Given the description of an element on the screen output the (x, y) to click on. 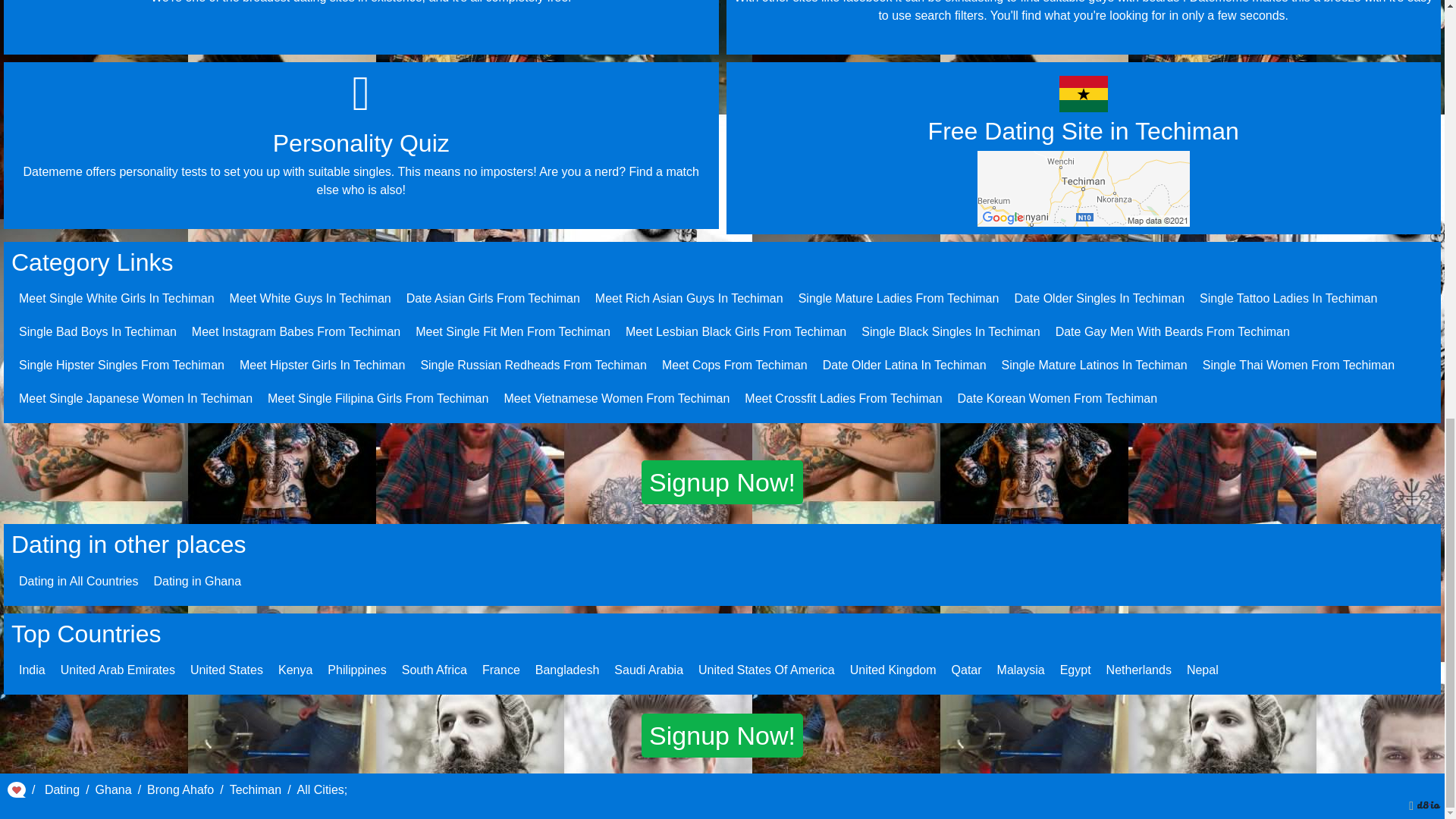
Meet White Guys In Techiman (310, 297)
Meet Single White Girls In Techiman (116, 297)
Meet Rich Asian Guys In Techiman (689, 297)
Date Asian Girls From Techiman (492, 297)
